Given the description of an element on the screen output the (x, y) to click on. 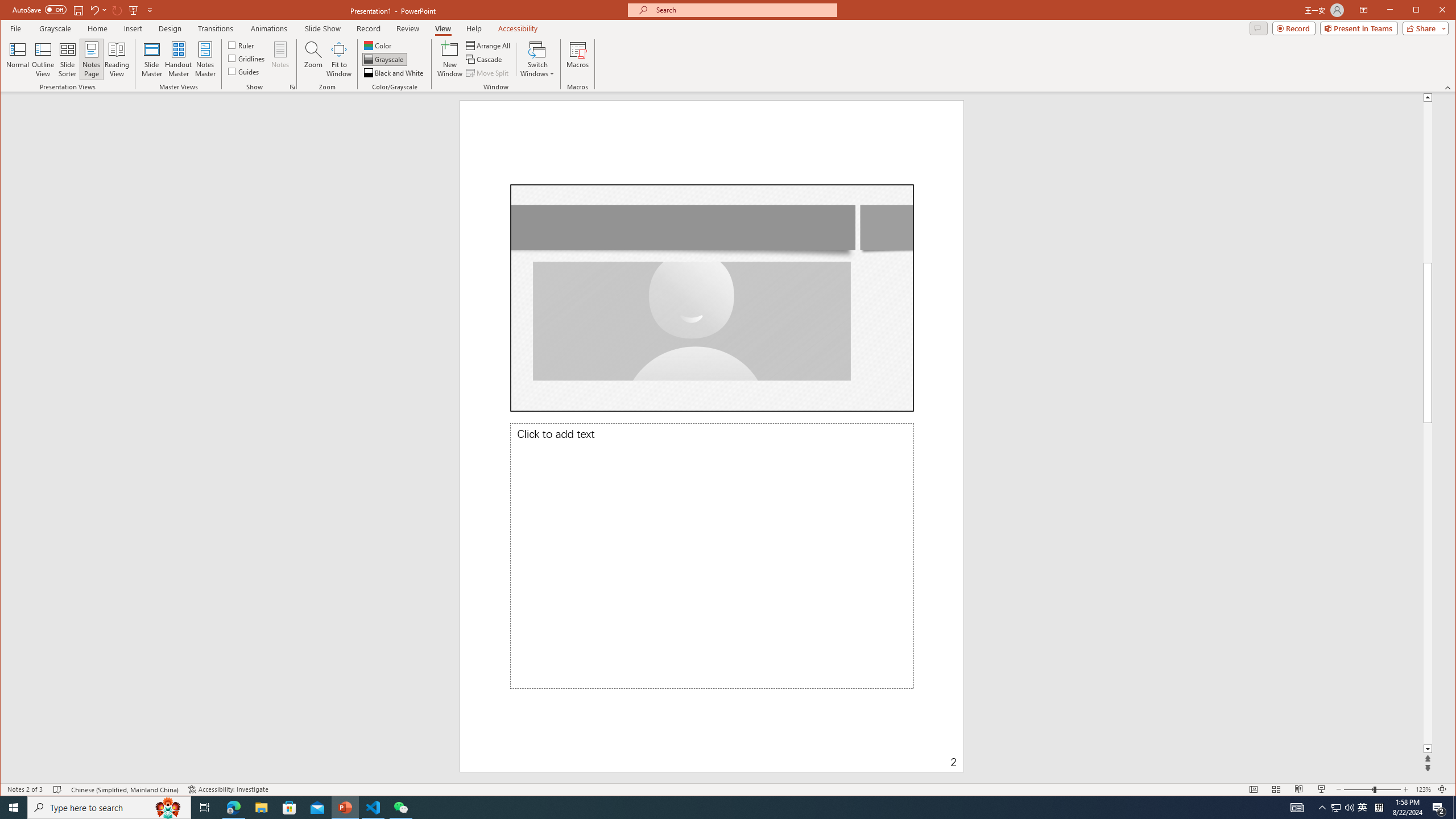
New Window (450, 59)
Slide Master (151, 59)
Grid Settings... (292, 86)
Notes Page (91, 59)
Color (378, 45)
